Given the description of an element on the screen output the (x, y) to click on. 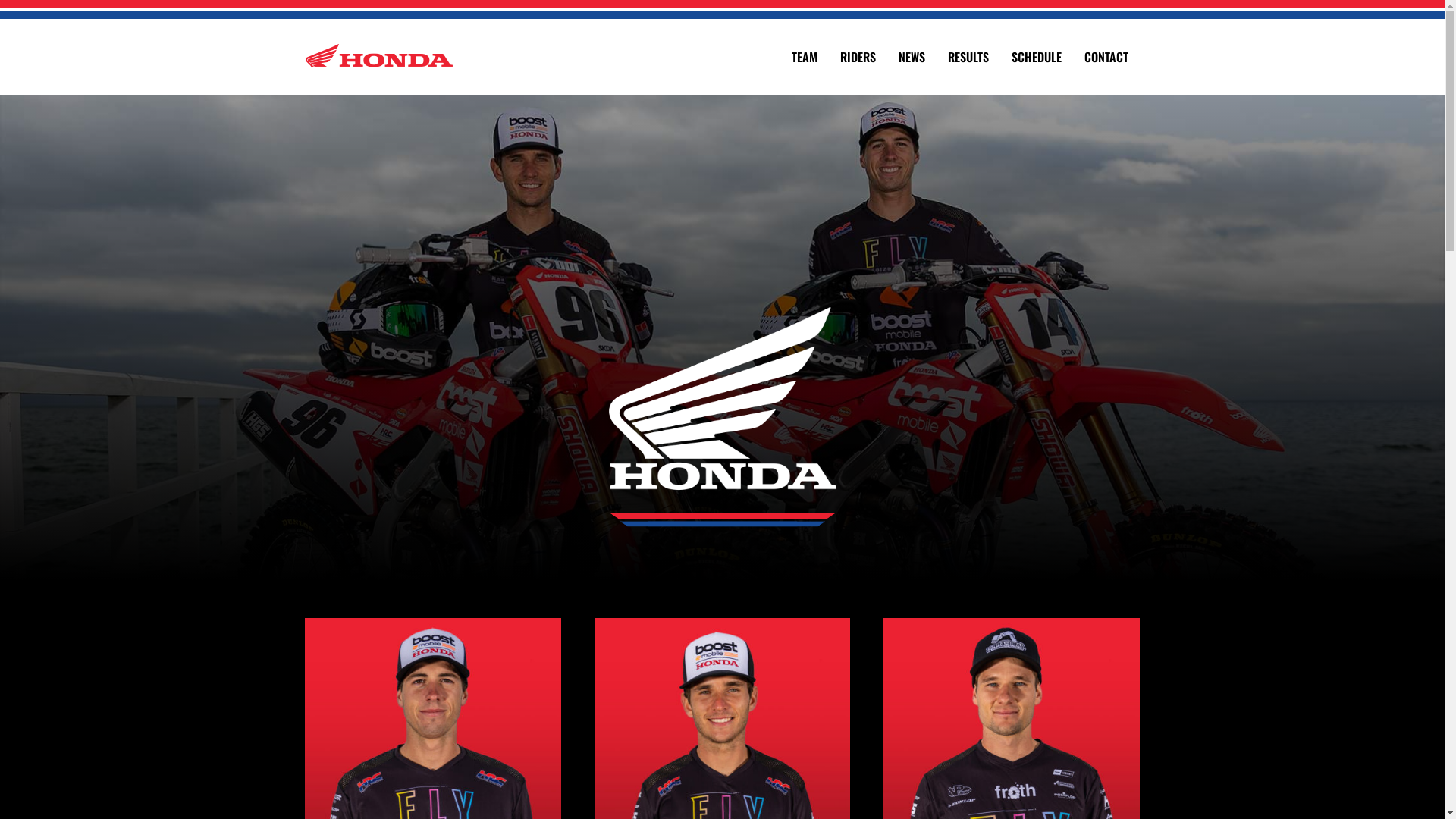
SCHEDULE Element type: text (1036, 56)
TEAM Element type: text (804, 56)
RESULTS Element type: text (968, 56)
CONTACT Element type: text (1106, 56)
RIDERS Element type: text (857, 56)
Honda_Logo Element type: hover (721, 398)
Heading_Underline-2 Element type: hover (721, 519)
NEWS Element type: text (911, 56)
